Given the description of an element on the screen output the (x, y) to click on. 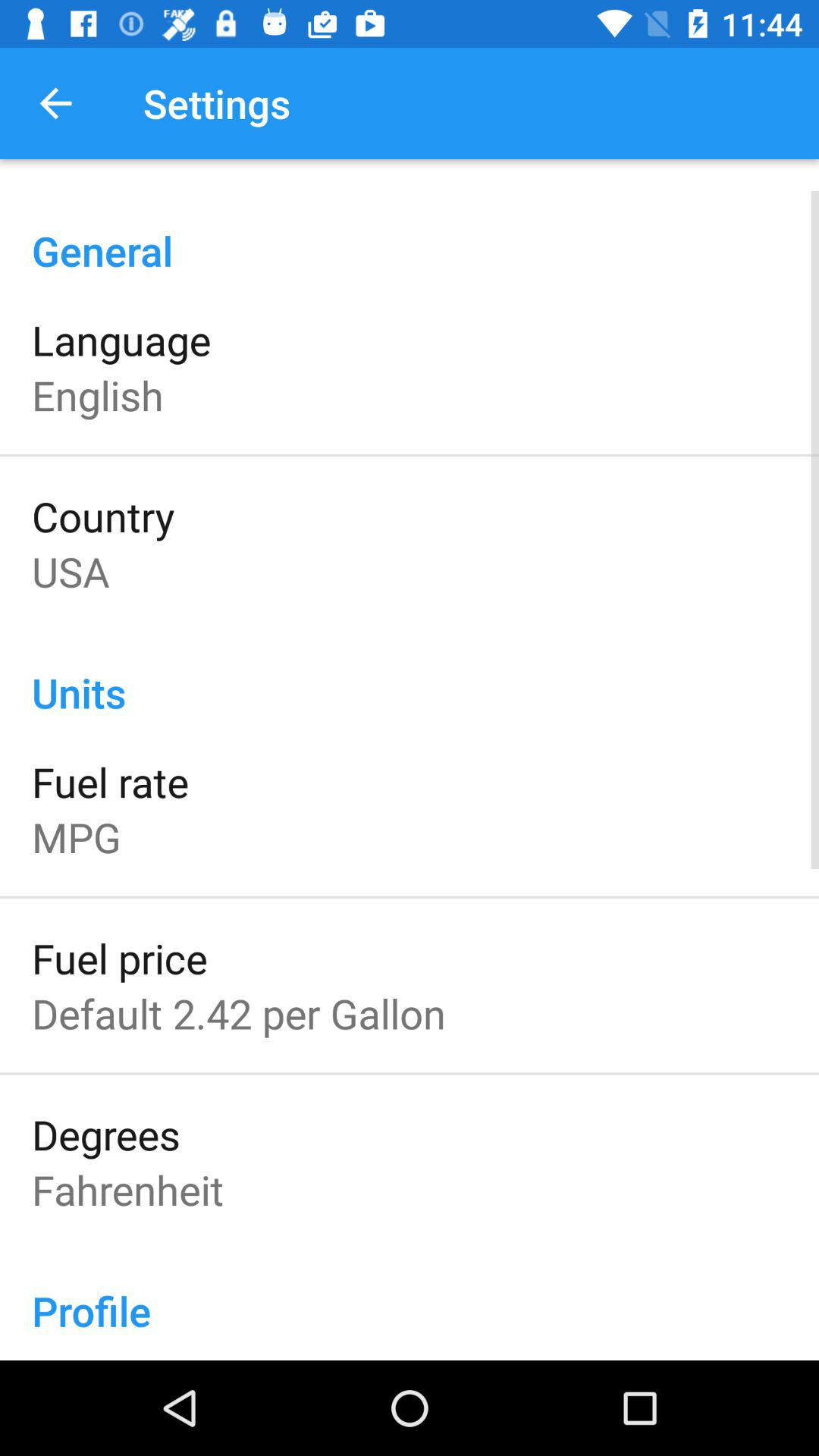
turn off the item below mpg item (119, 957)
